Given the description of an element on the screen output the (x, y) to click on. 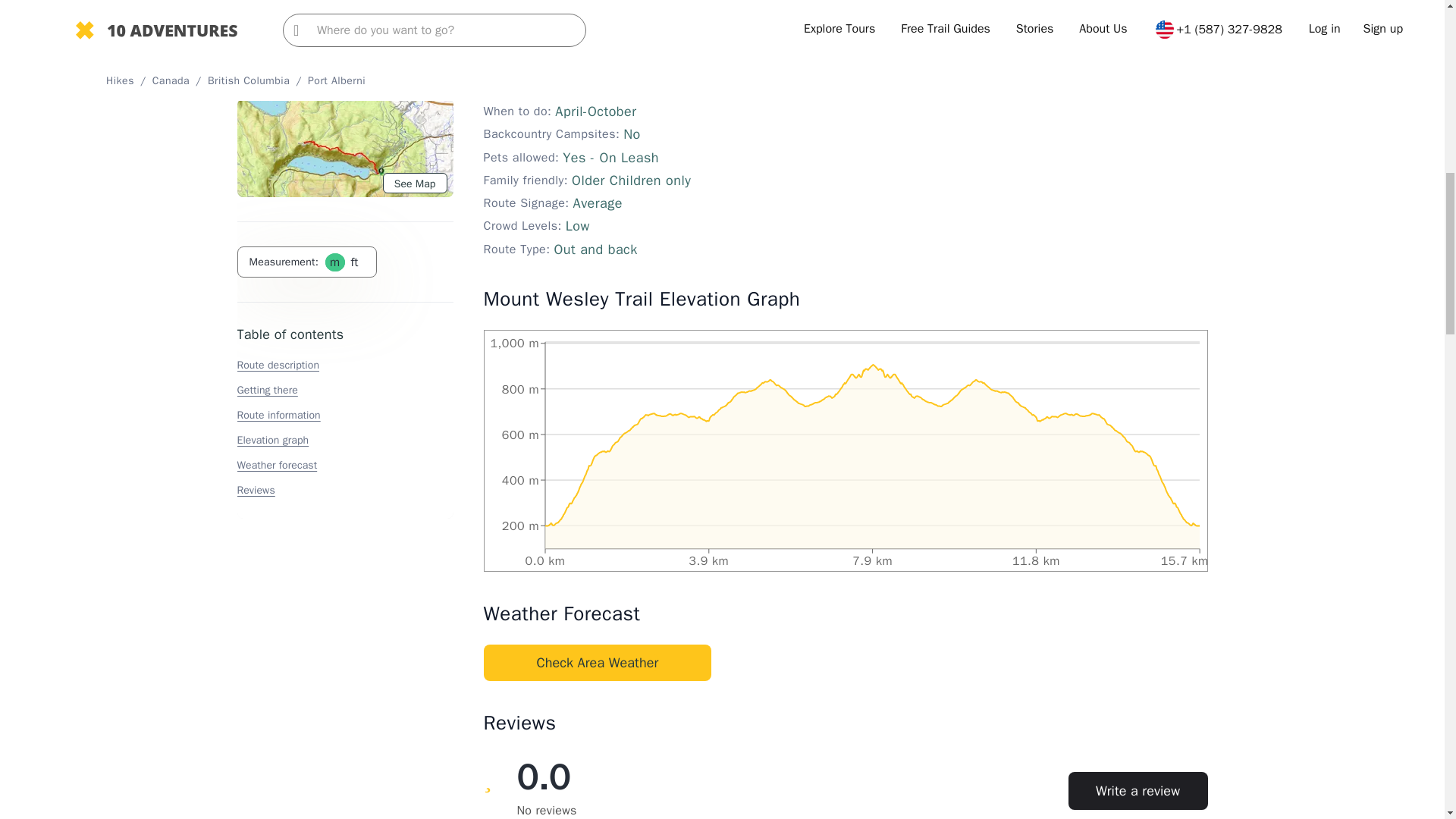
Route information (277, 10)
Weather forecast (276, 60)
Reviews (255, 85)
Elevation graph (271, 35)
